Given the description of an element on the screen output the (x, y) to click on. 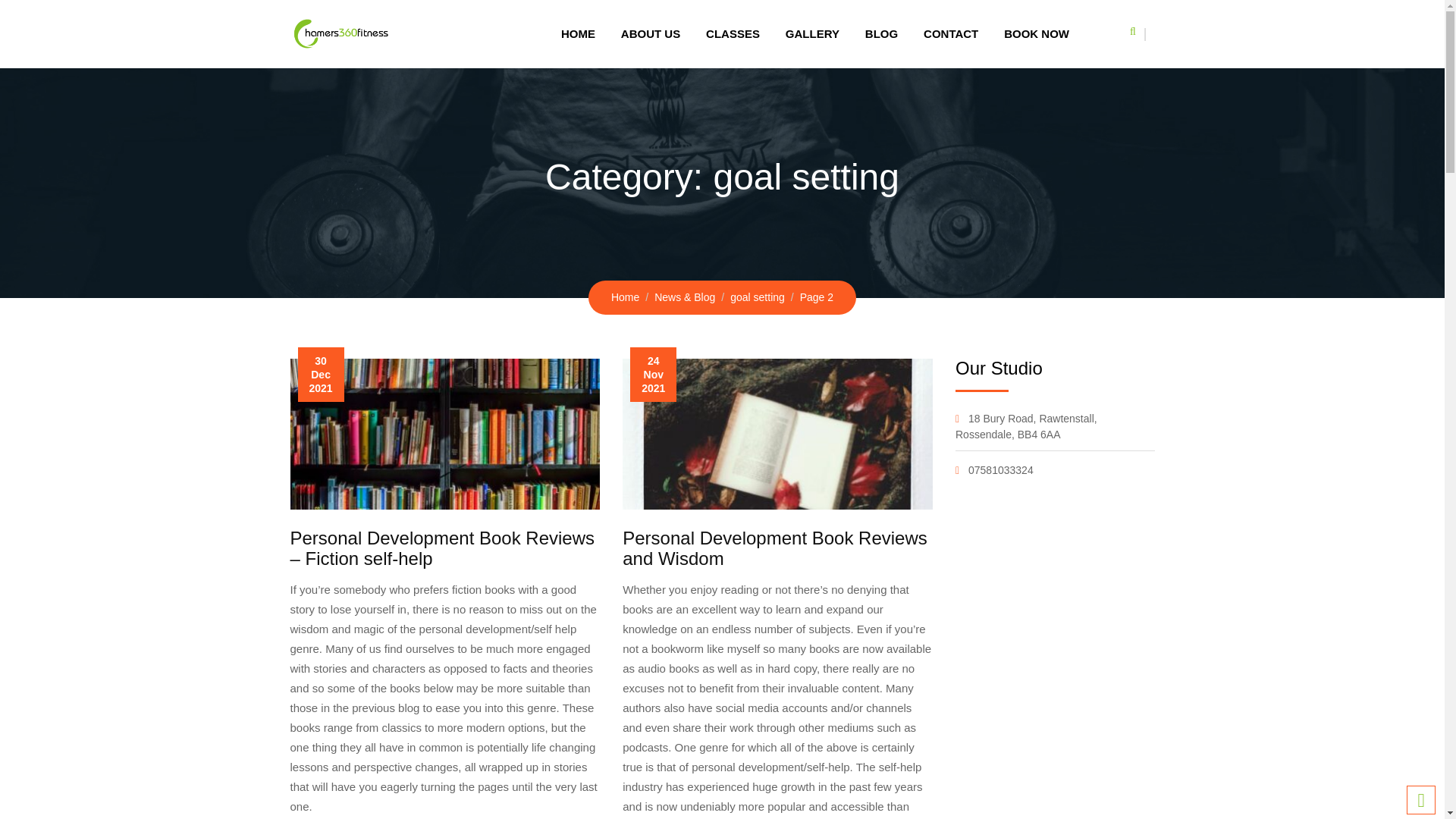
CLASSES (732, 33)
BLOG (880, 33)
Home (625, 297)
Personal Development Book Reviews and Wisdom (775, 547)
CONTACT (951, 33)
GALLERY (812, 33)
BOOK NOW (1036, 33)
ABOUT US (650, 33)
HOME (578, 33)
goal setting (757, 297)
